Given the description of an element on the screen output the (x, y) to click on. 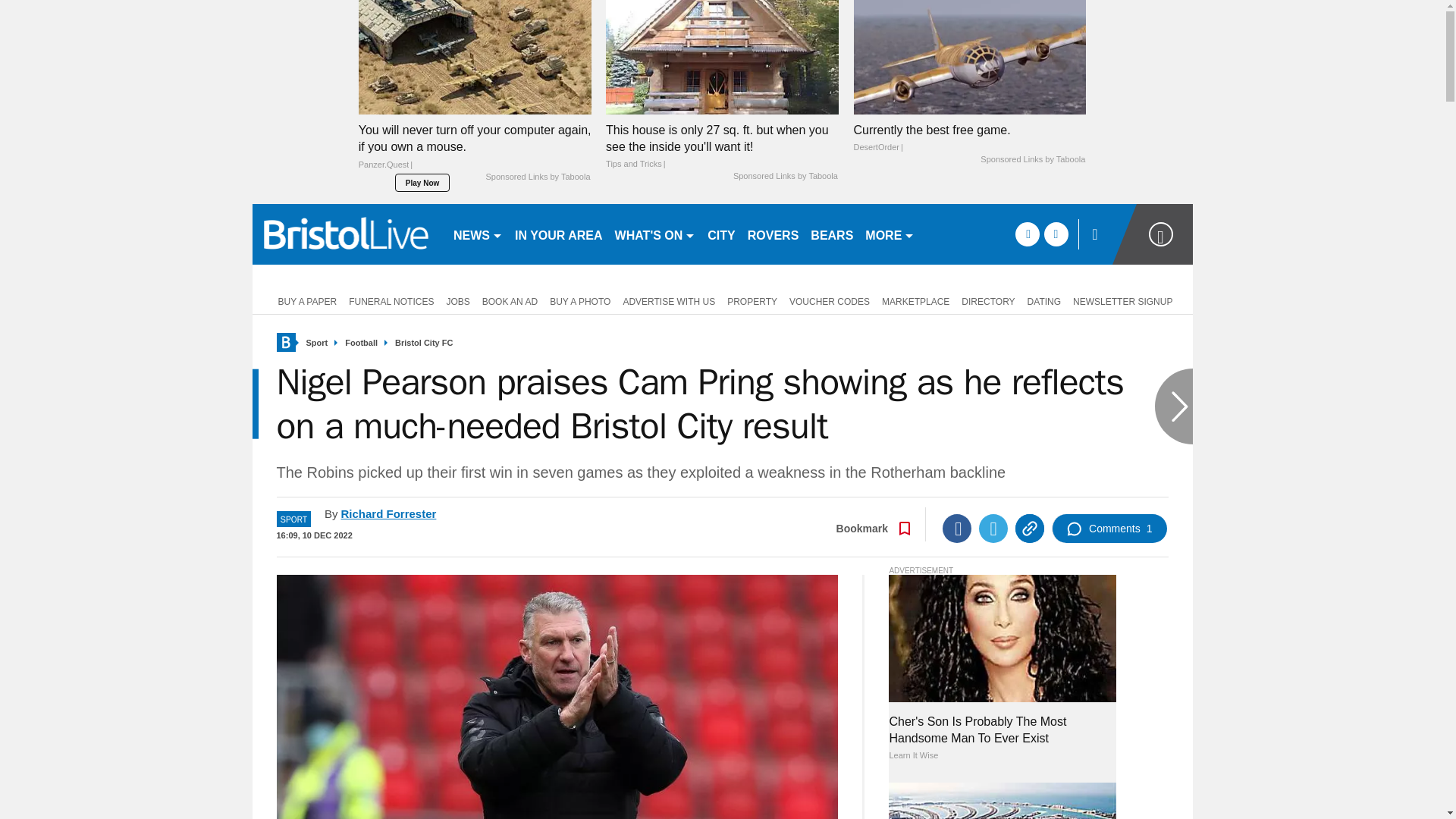
Sponsored Links by Taboola (785, 176)
Facebook (956, 528)
bristolpost (345, 233)
WHAT'S ON (654, 233)
IN YOUR AREA (558, 233)
Sponsored Links by Taboola (1031, 159)
Sponsored Links by Taboola (536, 176)
Play Now (421, 182)
Comments (1108, 528)
